Given the description of an element on the screen output the (x, y) to click on. 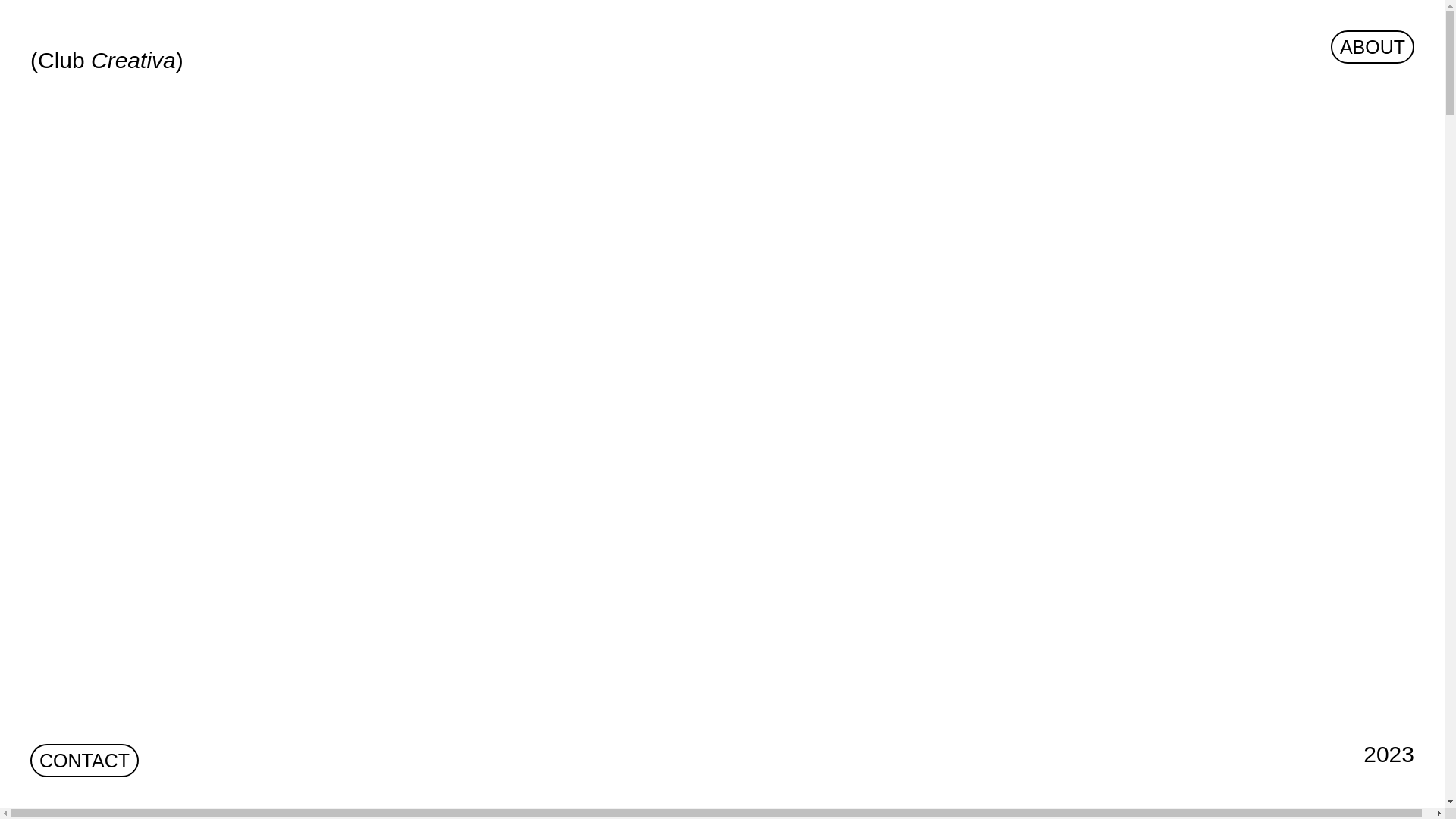
CONTACT Element type: text (84, 760)
JIVE Element type: text (727, 409)
ABOUT Element type: text (1372, 46)
